Given the description of an element on the screen output the (x, y) to click on. 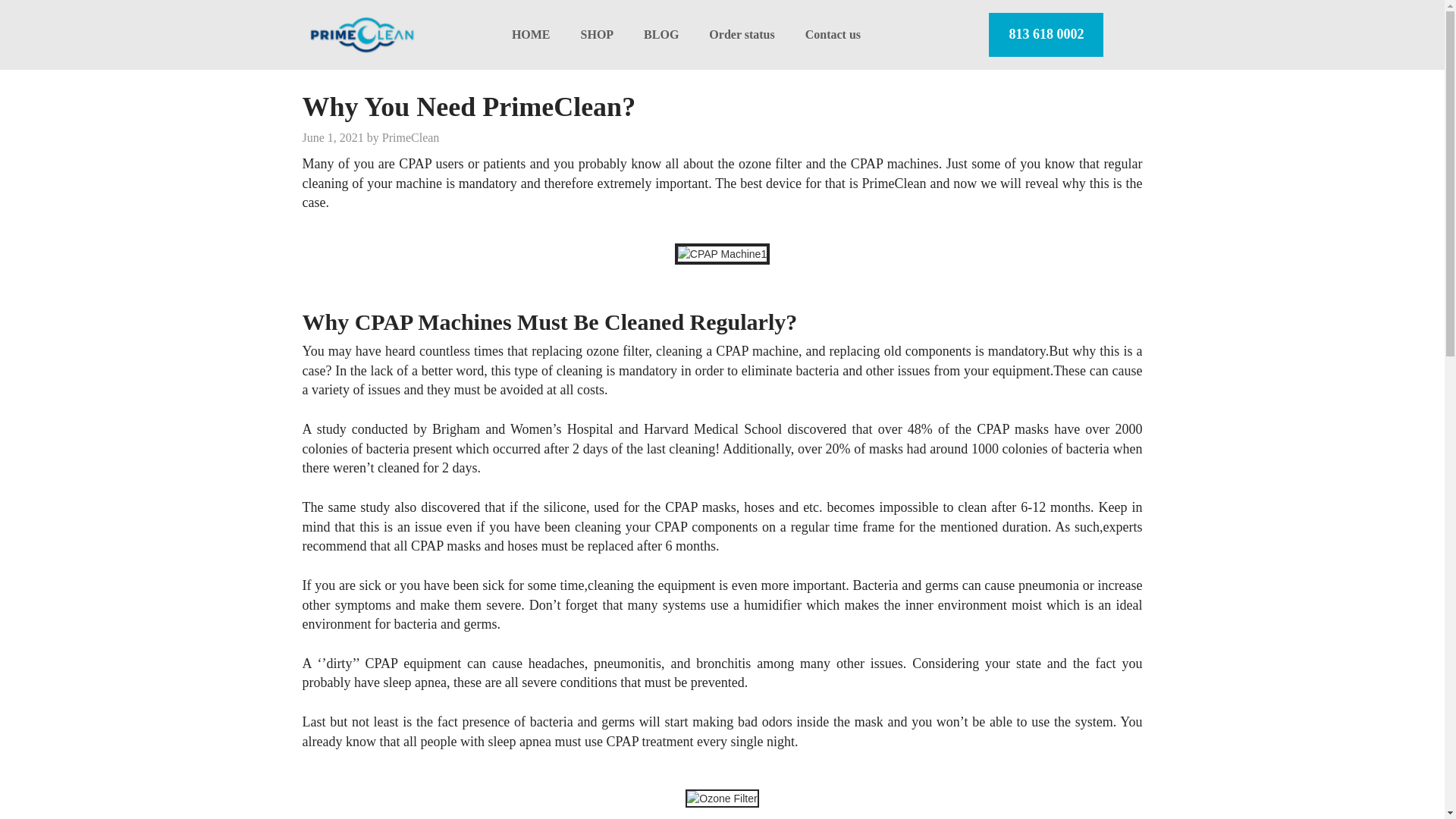
BLOG (661, 34)
HOME (531, 34)
Order status (741, 34)
813 618 0002 (1045, 34)
BLOG (661, 34)
Contact us (833, 34)
HOME (531, 34)
SHOP (597, 34)
SHOP (597, 34)
Order status (741, 34)
